Given the description of an element on the screen output the (x, y) to click on. 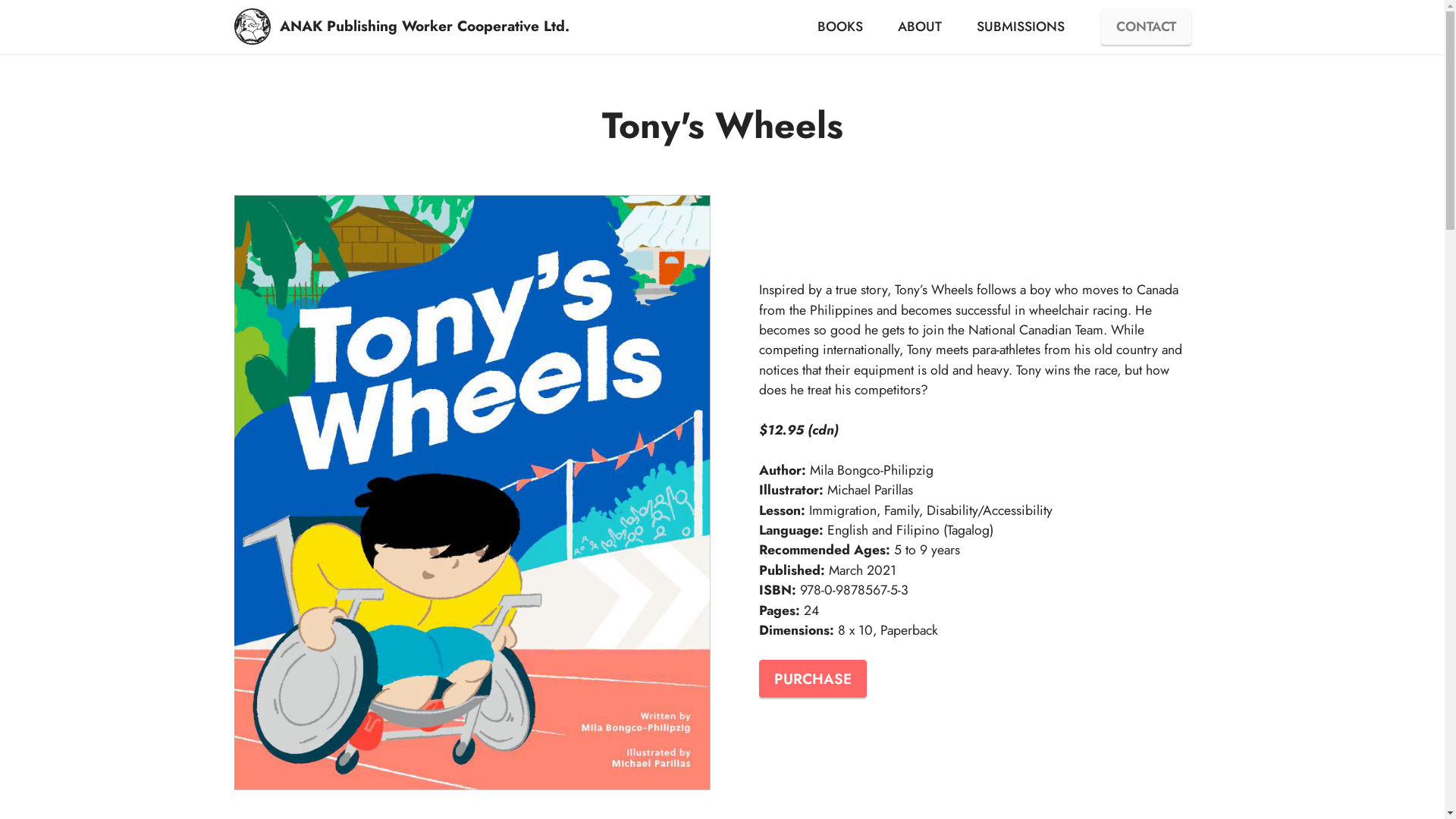
ABOUT Element type: text (920, 26)
CONTACT Element type: text (1146, 26)
PURCHASE Element type: text (812, 678)
SUBMISSIONS Element type: text (1020, 26)
BOOKS Element type: text (840, 26)
ANAK Publishing Worker Cooperative Ltd. Element type: text (424, 25)
